Given the description of an element on the screen output the (x, y) to click on. 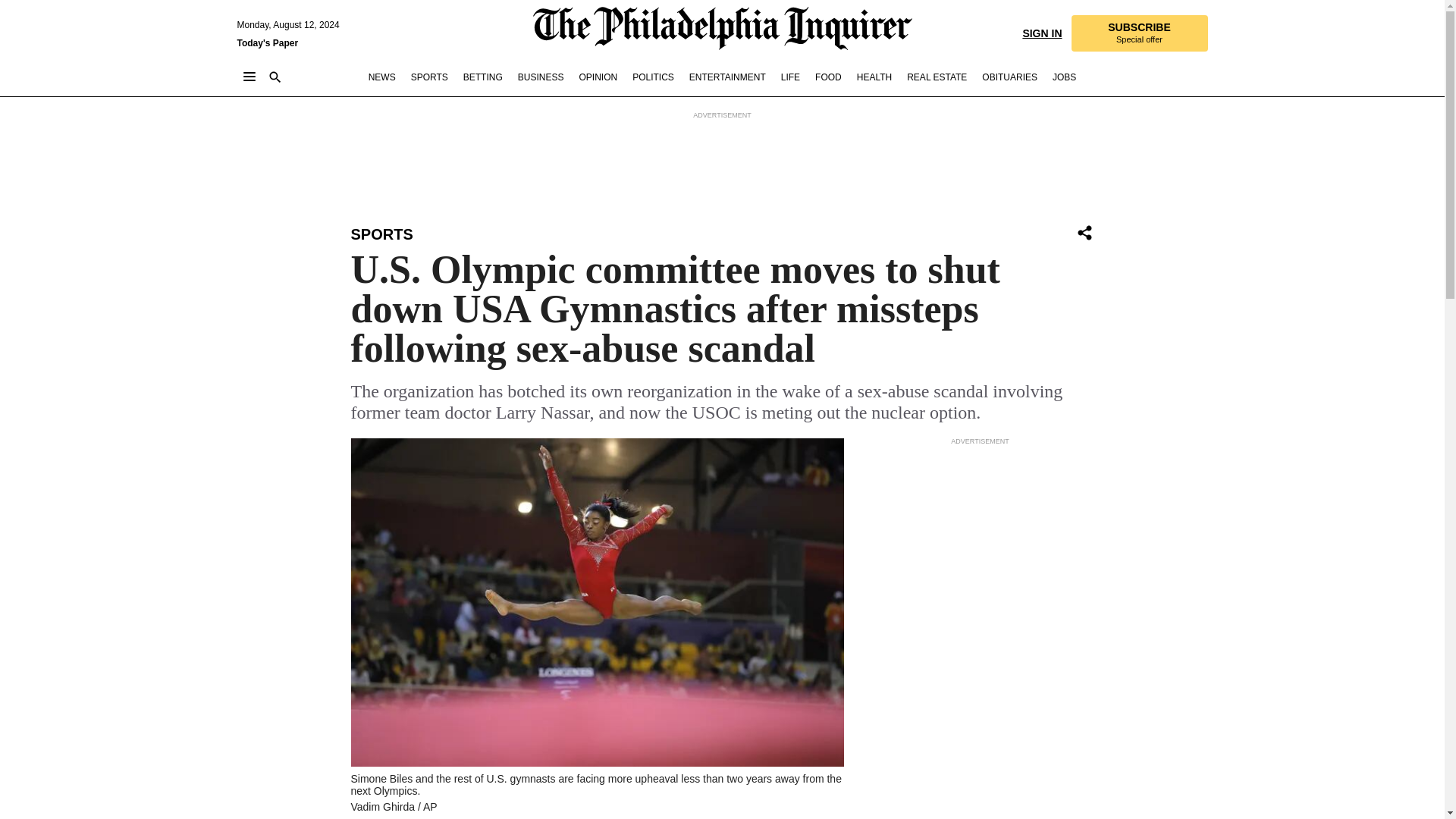
REAL ESTATE (936, 77)
POLITICS (652, 77)
LIFE (789, 77)
Today's Paper (266, 42)
Sports (381, 234)
SPORTS (1138, 33)
SIGN IN (381, 234)
FOOD (1041, 32)
HEALTH (828, 77)
